Given the description of an element on the screen output the (x, y) to click on. 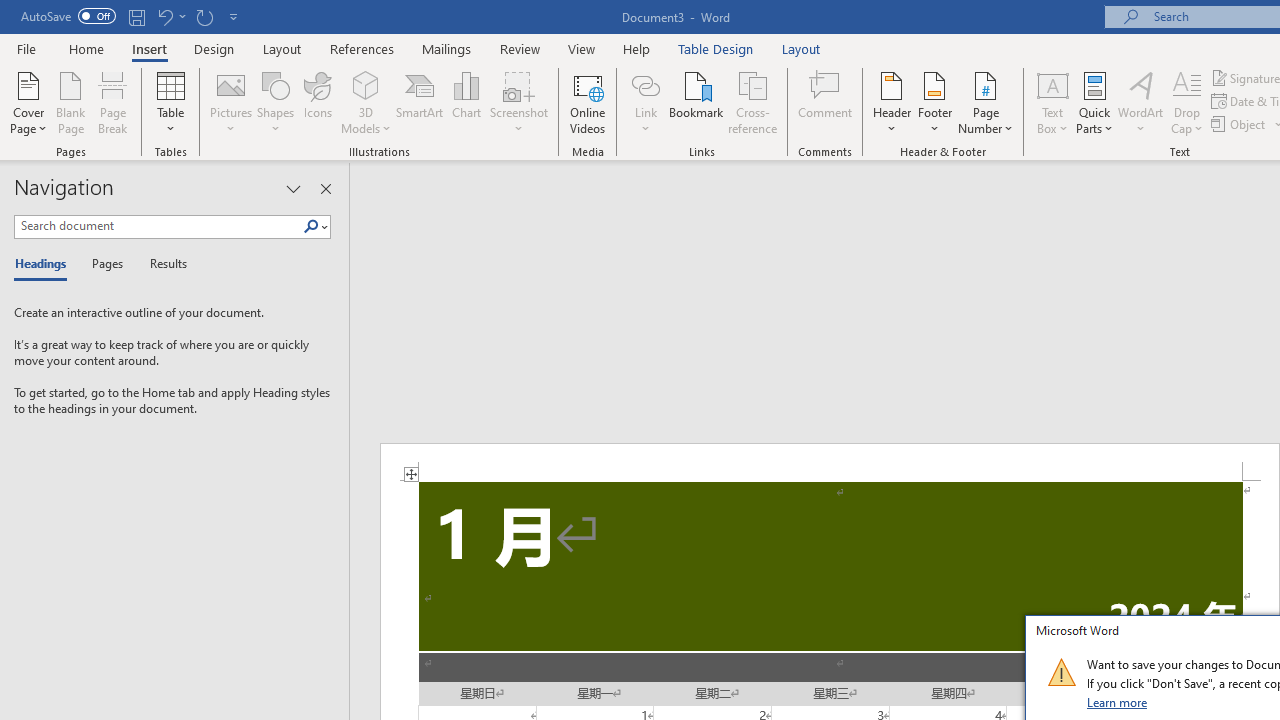
Undo Increase Indent (164, 15)
Learn more (1118, 702)
Drop Cap (1187, 102)
WordArt (1141, 102)
Undo Increase Indent (170, 15)
Table Design (715, 48)
Object... (1240, 124)
